Given the description of an element on the screen output the (x, y) to click on. 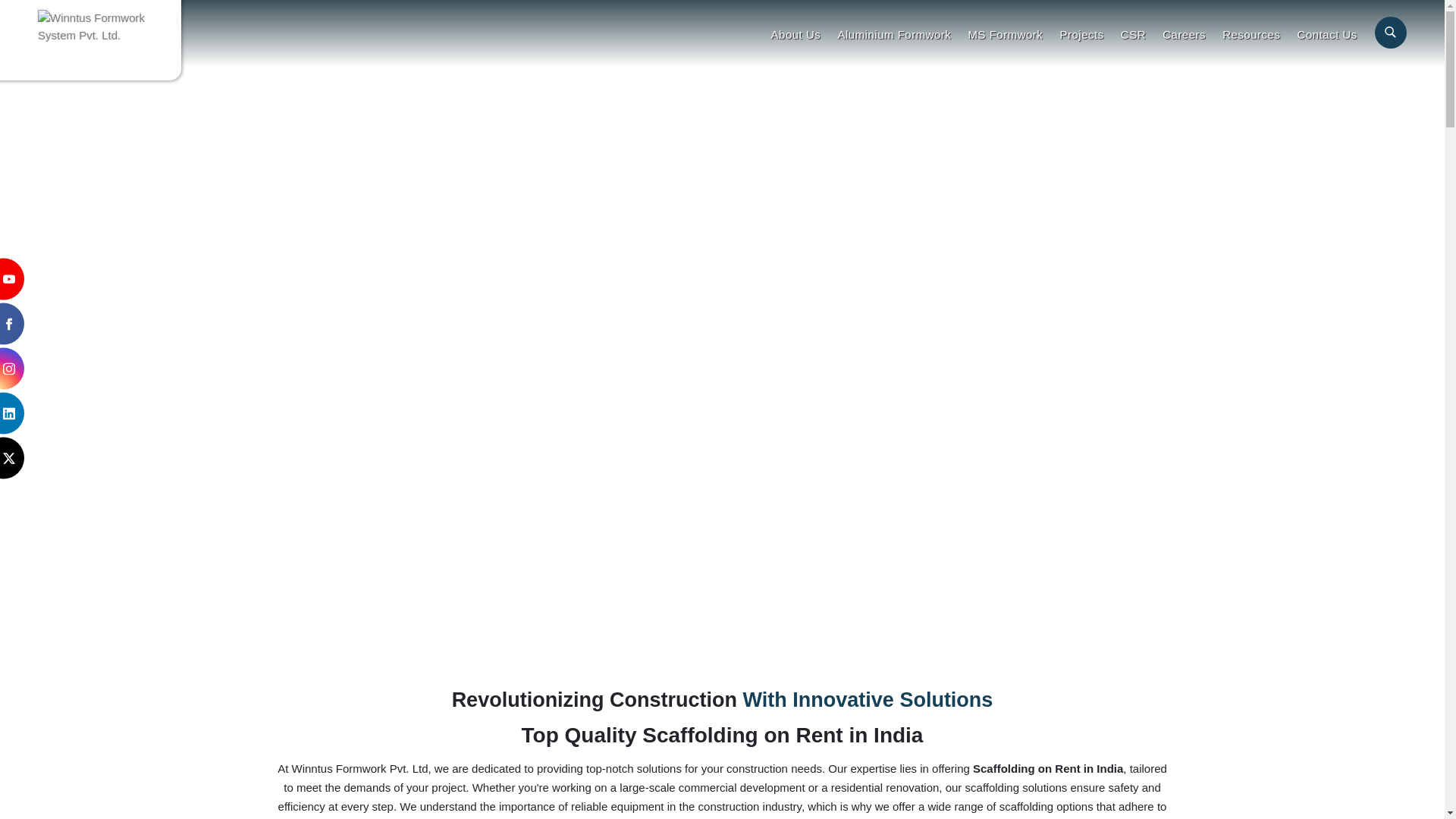
About Us (796, 32)
Winntus Formwork System Pvt. Ltd. (94, 26)
Careers (1184, 32)
Aluminium Formwork (893, 32)
MS Formwork (1004, 32)
MS Formwork (1004, 32)
Aluminium Formwork (893, 32)
CSR (1133, 32)
Contact Us (1327, 32)
About Us (796, 32)
Resources (1251, 32)
Projects (1080, 32)
